Given the description of an element on the screen output the (x, y) to click on. 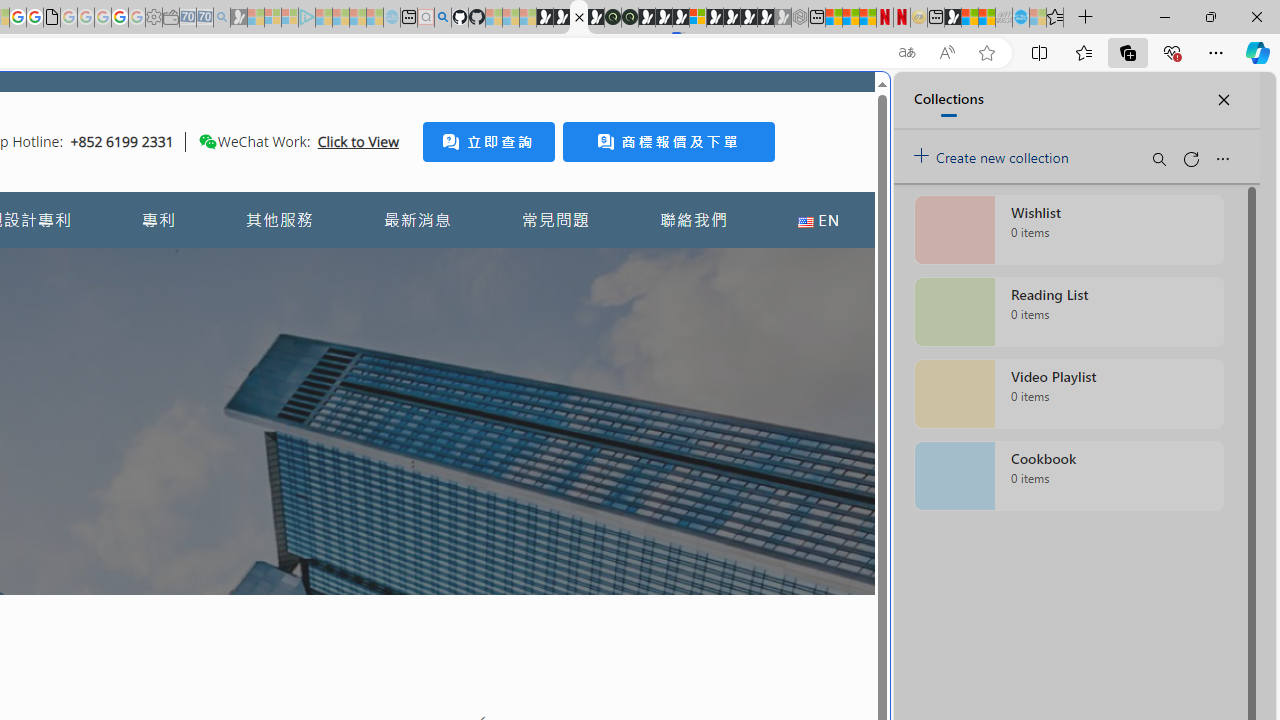
Sign in to your account (697, 17)
EN (818, 220)
